Given the description of an element on the screen output the (x, y) to click on. 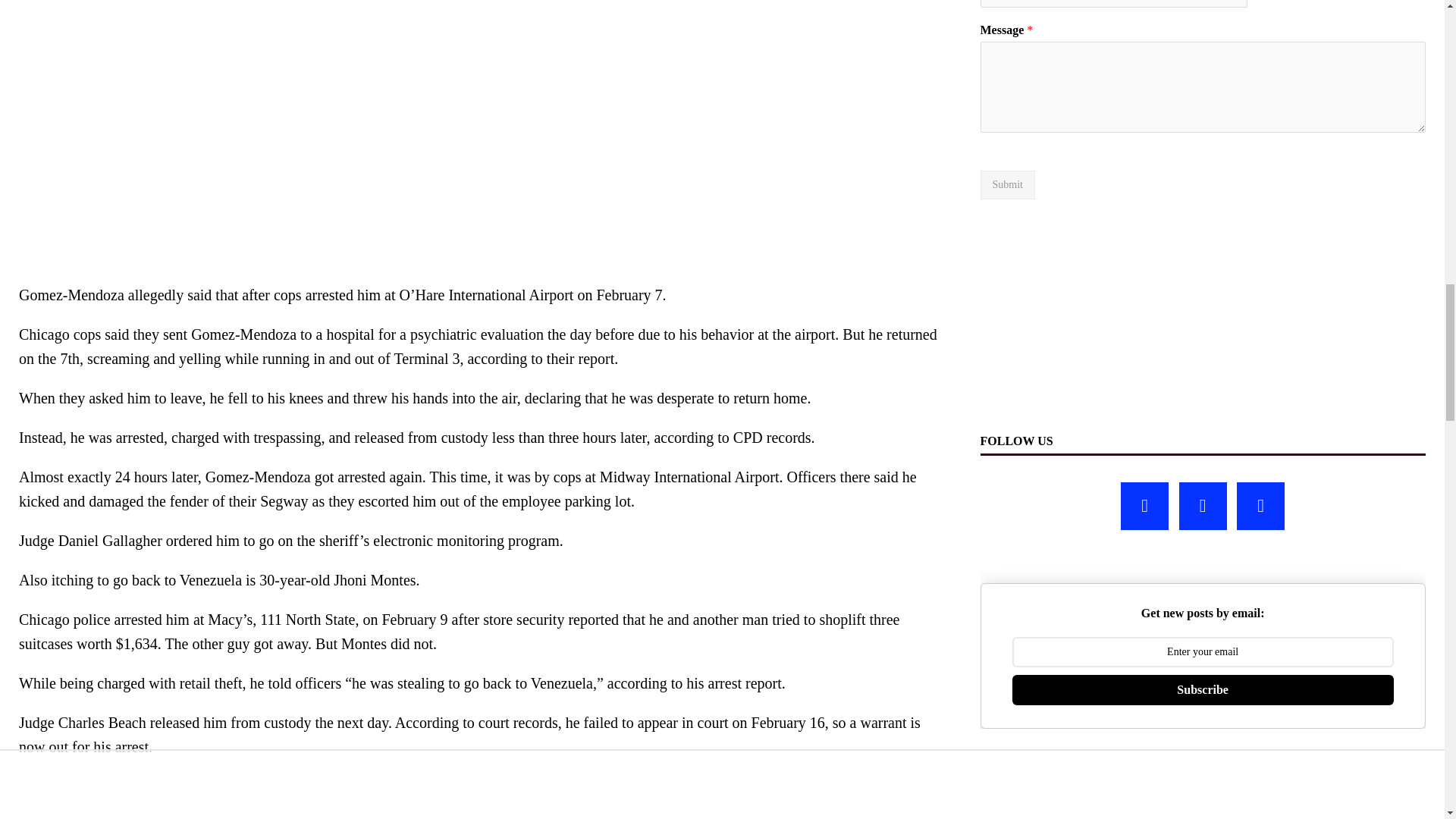
Submit (1007, 184)
Subscribe (1202, 689)
